Given the description of an element on the screen output the (x, y) to click on. 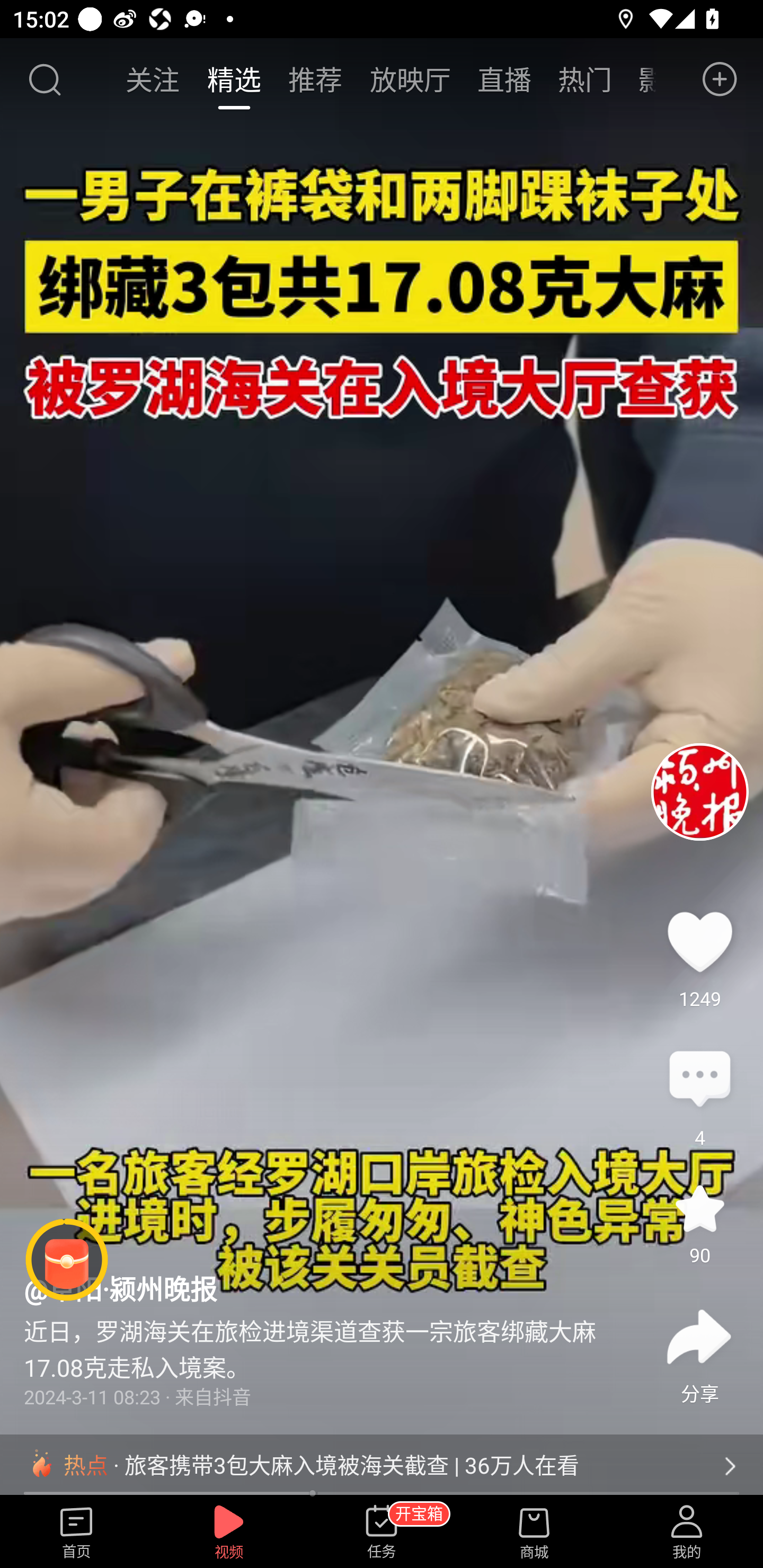
关注 (153, 79)
精选 (233, 79)
推荐 (315, 79)
放映厅 (409, 79)
直播 (504, 79)
热门 (584, 79)
搜索 (44, 79)
发布 (720, 79)
头像 (699, 791)
点赞1249 1249 (699, 941)
评论4 评论 4 (699, 1080)
收藏 90 (699, 1207)
阅读赚金币 (66, 1259)
分享 (699, 1336)
热点  · 旅客携带3包大麻入境被海关截查  | 36万人在看 (381, 1465)
首页 (76, 1532)
视频 (228, 1532)
任务 开宝箱 (381, 1532)
商城 (533, 1532)
我的 (686, 1532)
